Given the description of an element on the screen output the (x, y) to click on. 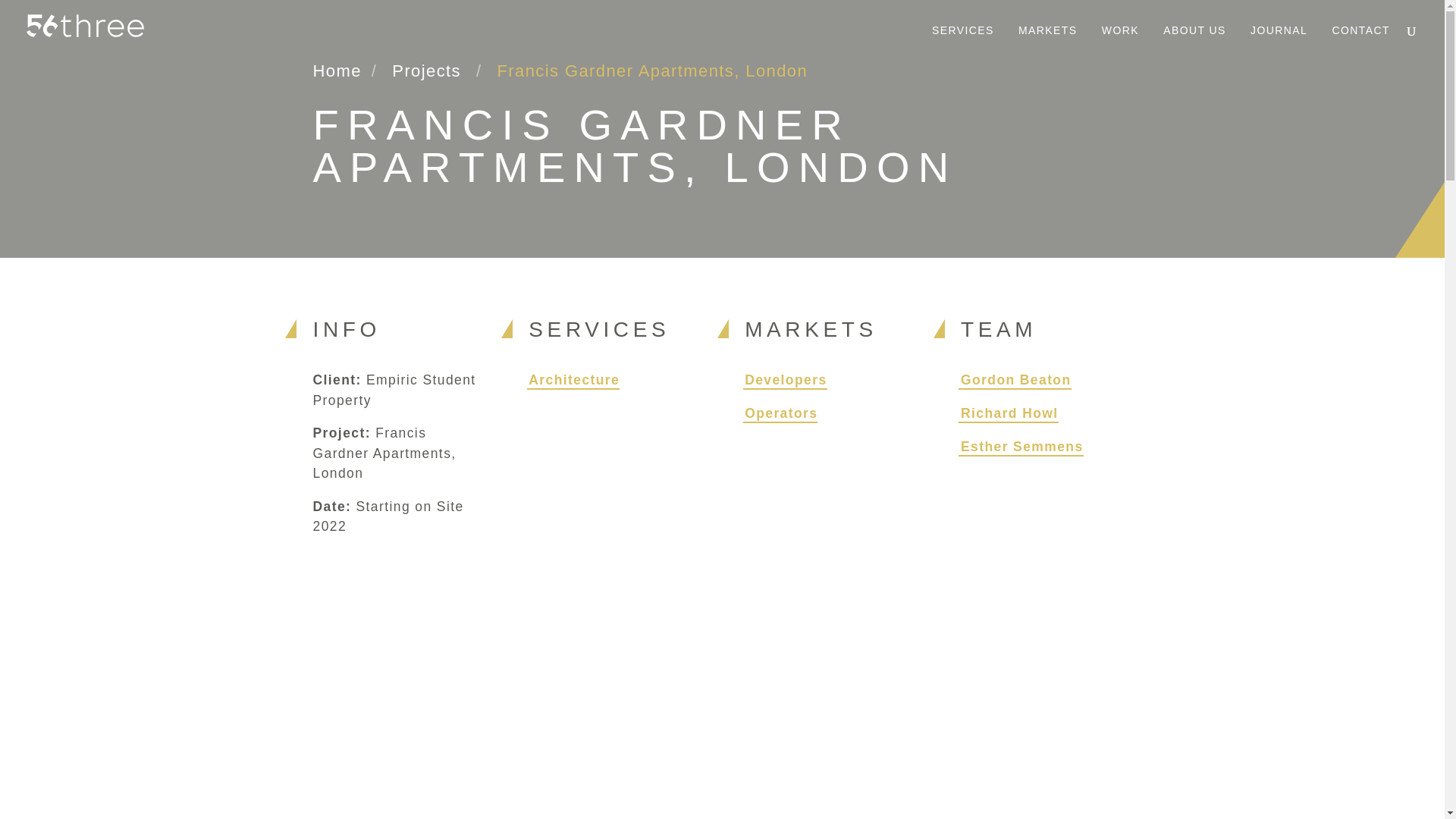
Home (337, 70)
JOURNAL (1276, 42)
SERVICES (961, 42)
MARKETS (1045, 42)
Gordon Beaton (1015, 379)
ABOUT US (1191, 42)
Richard Howl (1009, 412)
Projects (426, 70)
Architecture (574, 379)
Esther Semmens (1021, 446)
